Given the description of an element on the screen output the (x, y) to click on. 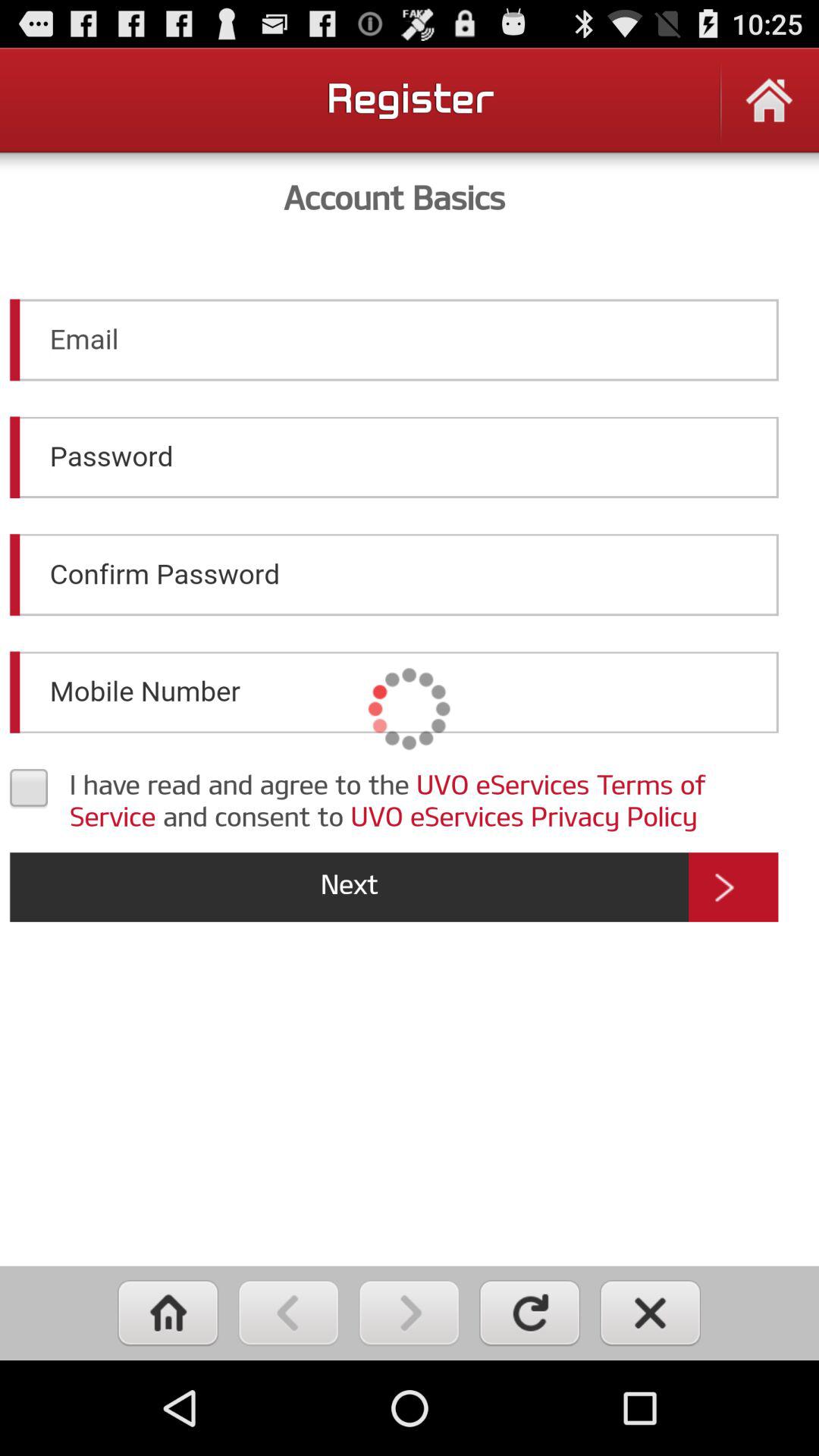
go back (288, 1313)
